Given the description of an element on the screen output the (x, y) to click on. 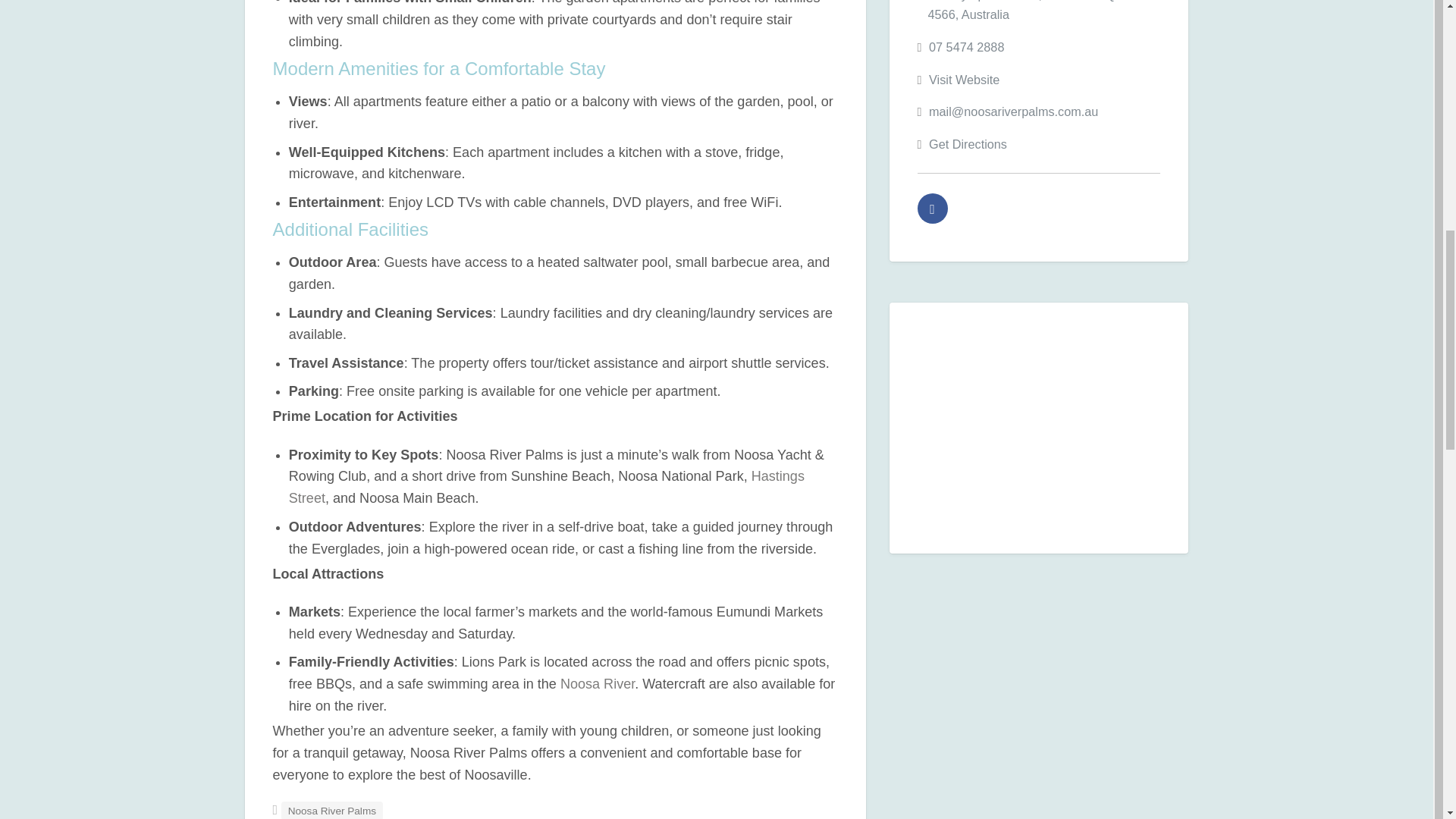
Facebook (932, 208)
